Given the description of an element on the screen output the (x, y) to click on. 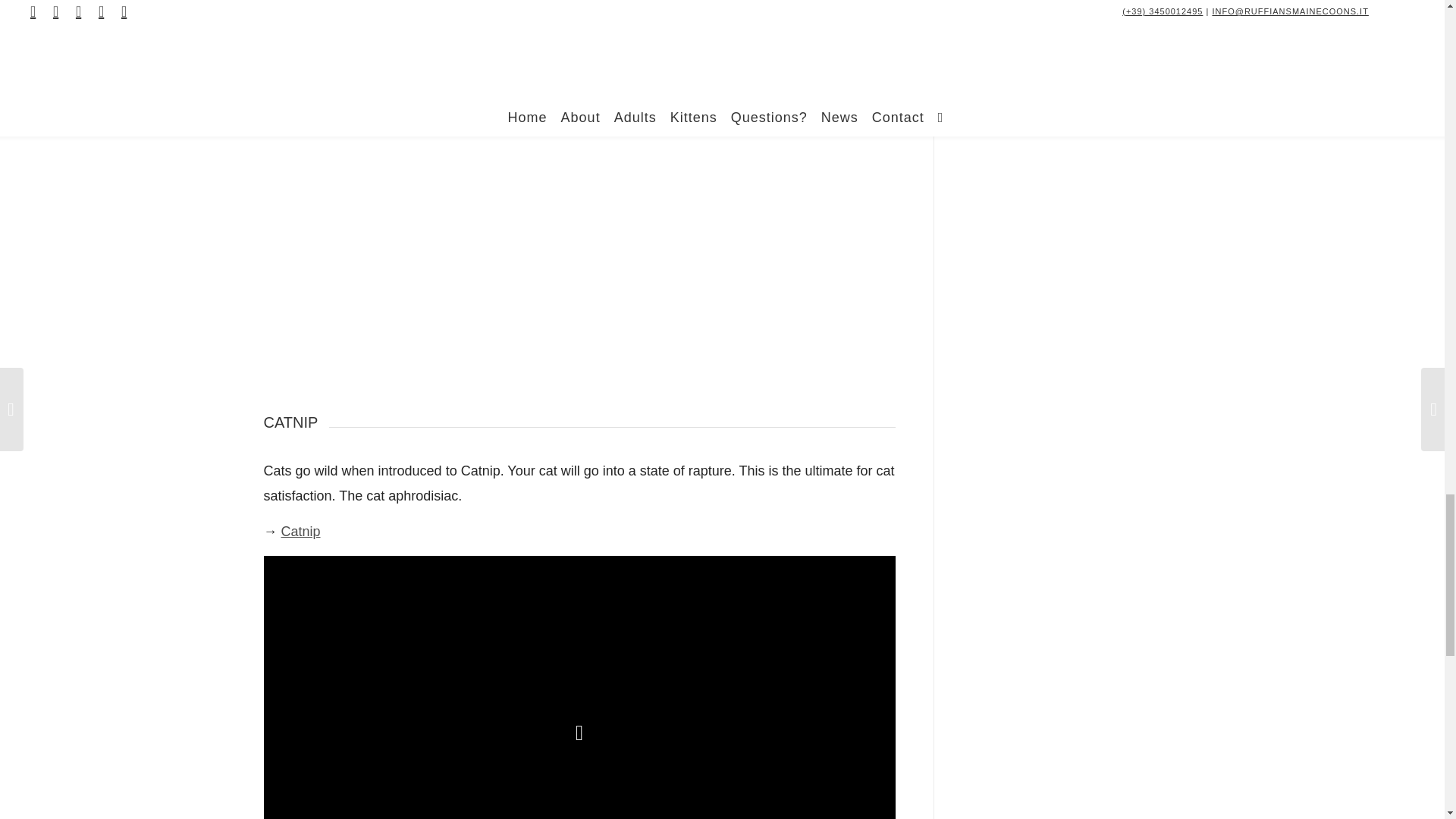
Catit Senses 2.0 Grass Planter (374, 72)
Catnip (300, 531)
Catit Senses 2.0 Cat Grass Kit (373, 108)
